Given the description of an element on the screen output the (x, y) to click on. 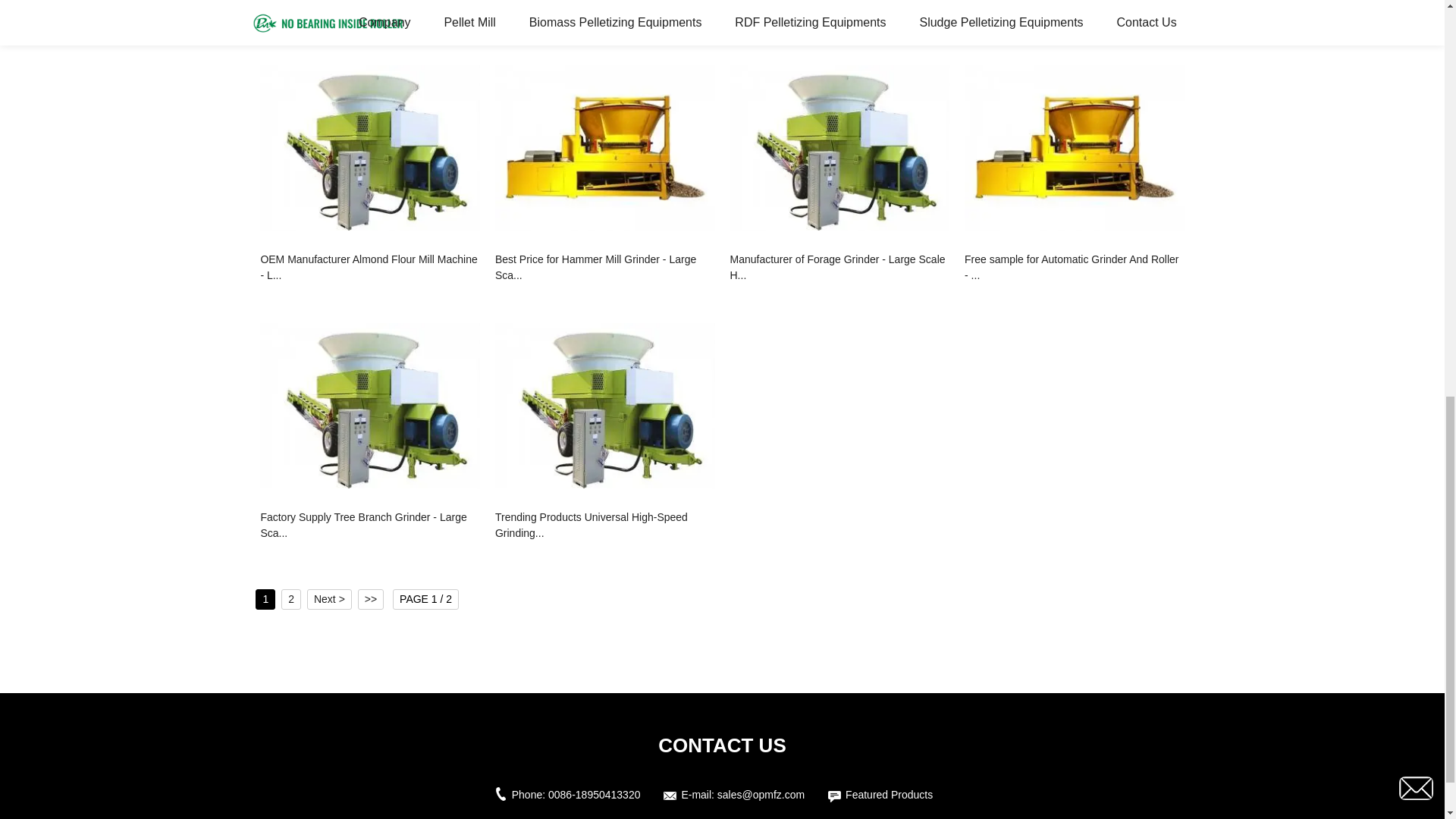
The Last Page (371, 598)
